Given the description of an element on the screen output the (x, y) to click on. 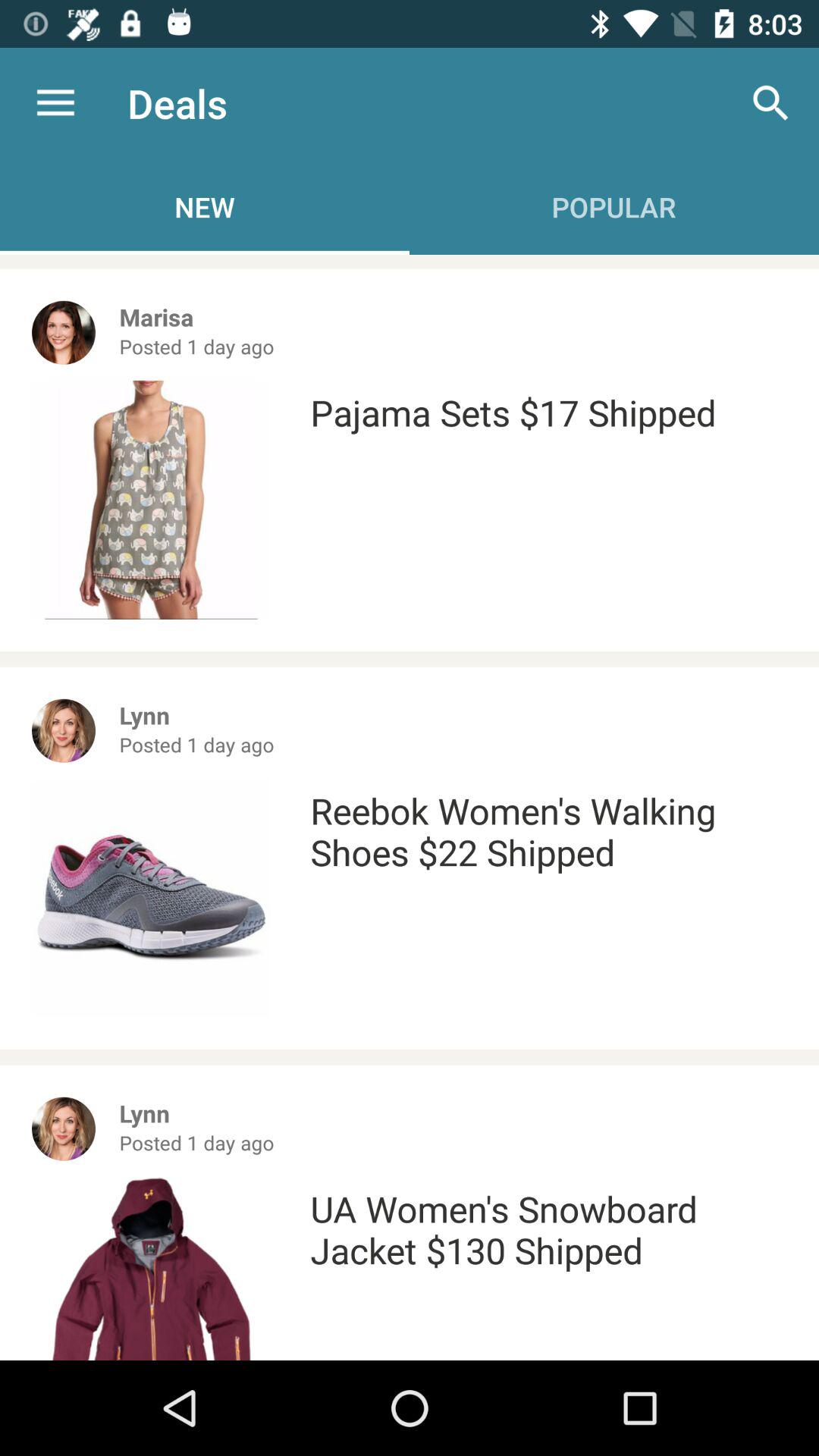
select search (771, 103)
select the text which is below search icon (614, 206)
